Given the description of an element on the screen output the (x, y) to click on. 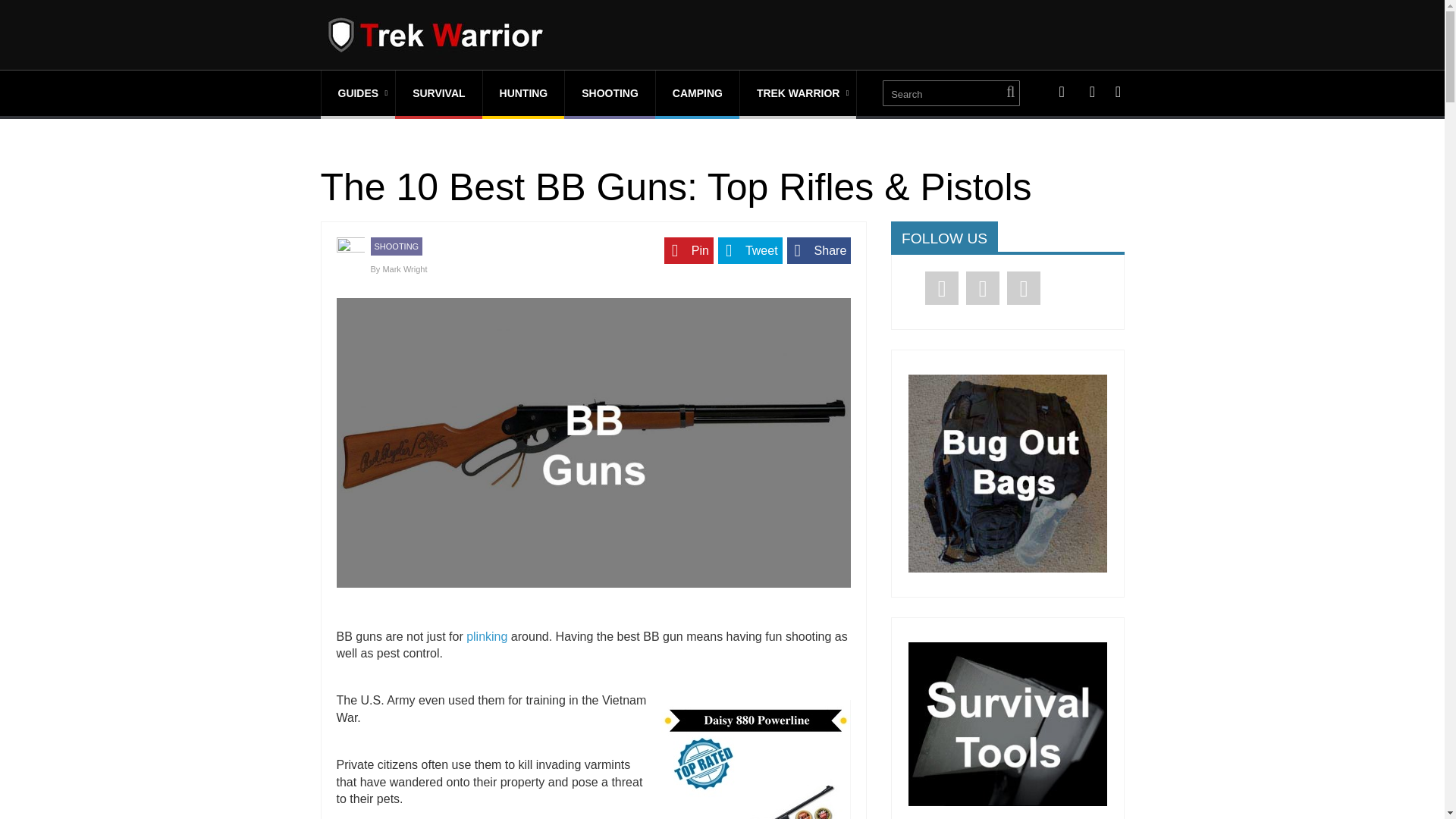
Tweet (750, 250)
SURVIVAL (438, 93)
Share (819, 250)
SHOOTING (396, 245)
SHOOTING (609, 93)
CAMPING (697, 93)
Mark Wright (403, 268)
TREK WARRIOR (798, 93)
HUNTING (523, 93)
GUIDES (358, 93)
